Given the description of an element on the screen output the (x, y) to click on. 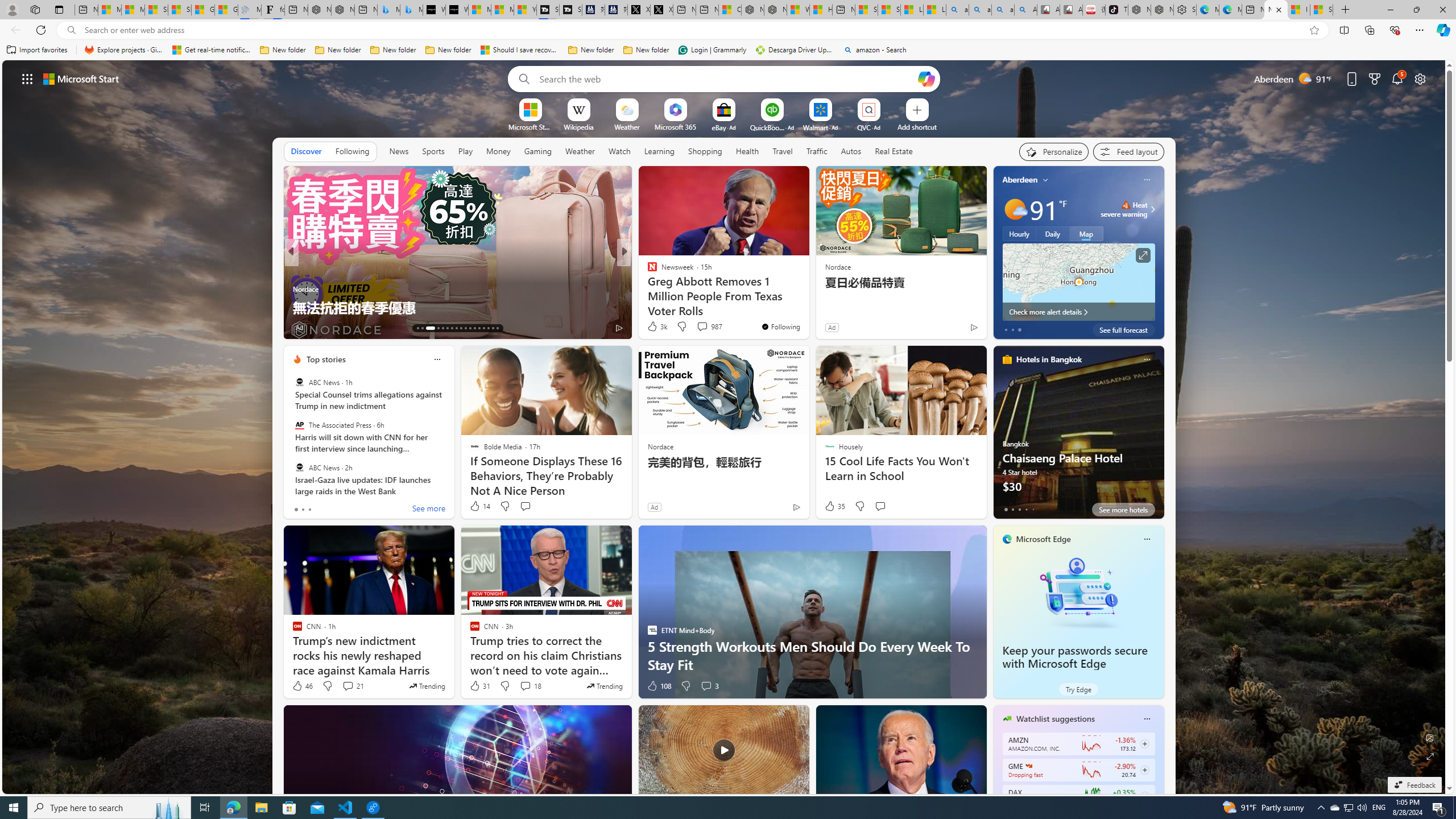
View comments 174 Comment (709, 327)
I Gained 20 Pounds of Muscle in 30 Days! | Watch (1298, 9)
Microsoft Bing Travel - Shangri-La Hotel Bangkok (411, 9)
Should I save recovered Word documents? - Microsoft Support (519, 49)
View comments 251 Comment (709, 327)
Why the GOP is no longer denying climate change (807, 307)
